Given the description of an element on the screen output the (x, y) to click on. 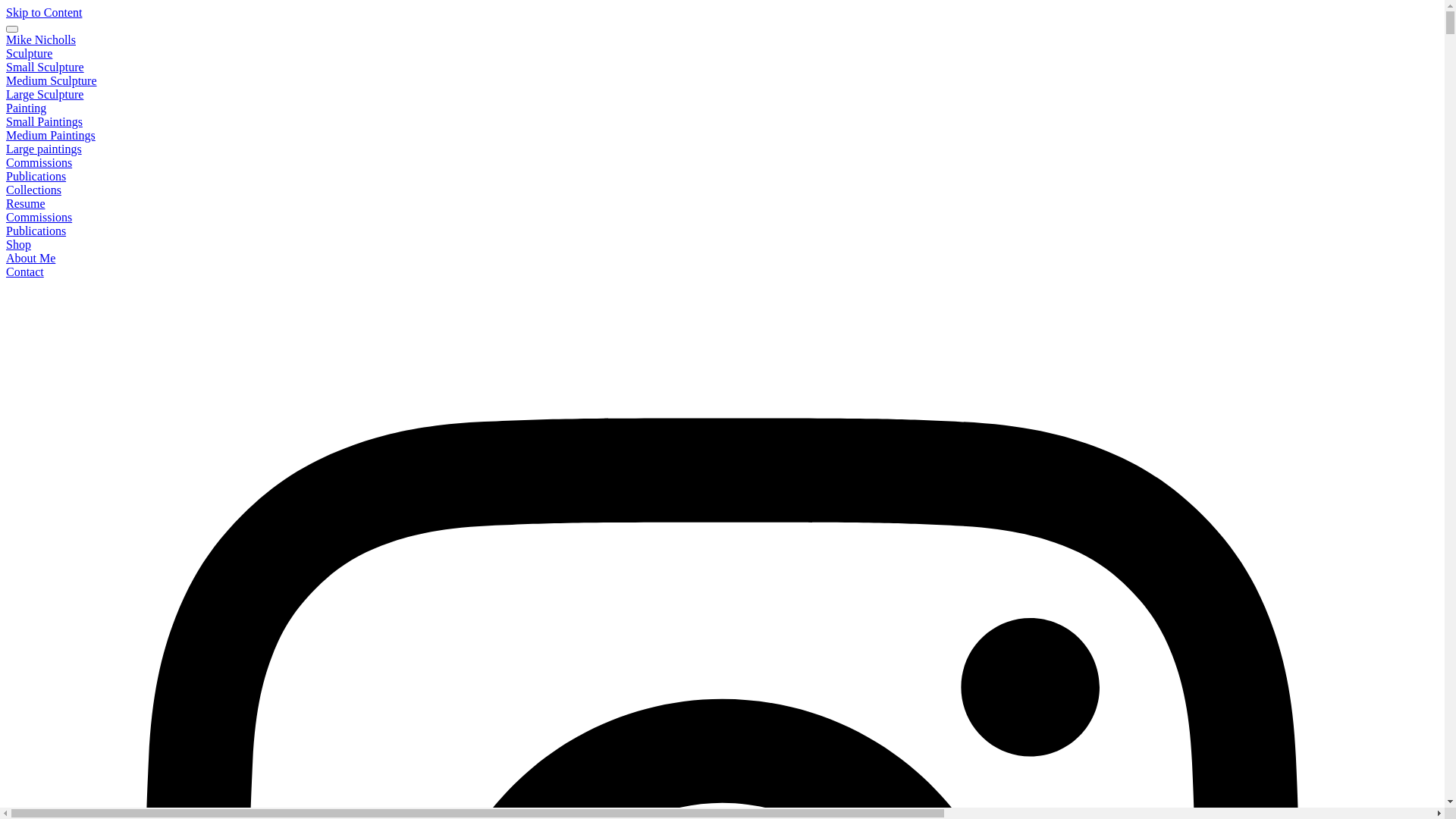
Medium Paintings Element type: text (50, 134)
Large paintings Element type: text (43, 148)
Collections Element type: text (33, 189)
Contact Element type: text (24, 271)
Commissions Element type: text (39, 162)
Small Paintings Element type: text (44, 121)
Shop Element type: text (18, 244)
Large Sculpture Element type: text (44, 93)
Publications Element type: text (35, 230)
Sculpture Element type: text (29, 53)
About Me Element type: text (30, 257)
Resume Element type: text (25, 203)
Small Sculpture Element type: text (45, 66)
Skip to Content Element type: text (43, 12)
Mike Nicholls Element type: text (40, 39)
Painting Element type: text (26, 107)
Commissions Element type: text (39, 216)
Medium Sculpture Element type: text (51, 80)
Publications Element type: text (35, 175)
